Given the description of an element on the screen output the (x, y) to click on. 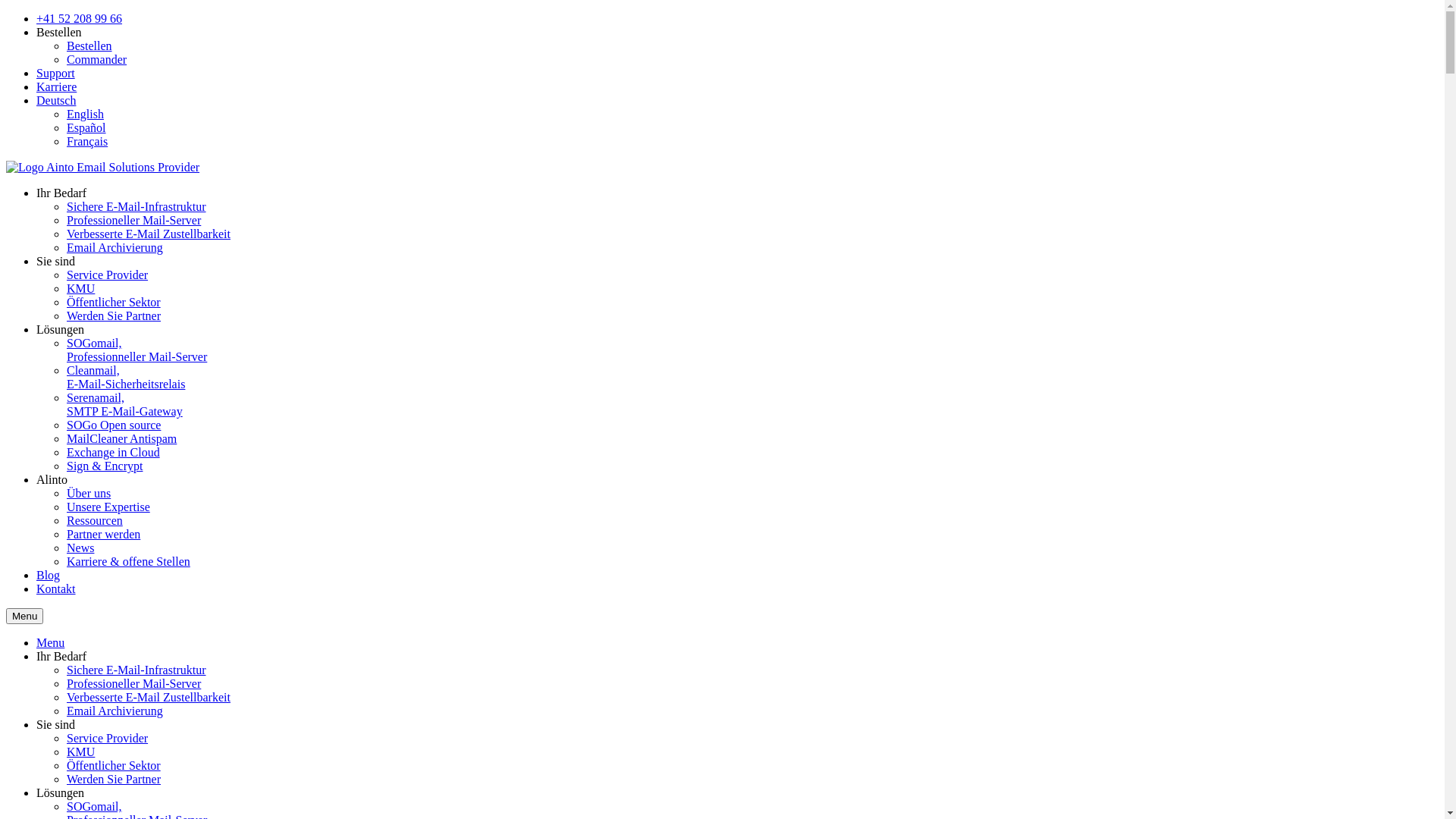
Ressourcen Element type: text (94, 520)
Service Provider Element type: text (106, 737)
Sichere E-Mail-Infrastruktur Element type: text (135, 669)
Sichere E-Mail-Infrastruktur Element type: text (135, 206)
Blog Element type: text (47, 574)
English Element type: text (84, 113)
Deutsch Element type: text (55, 100)
Sie sind Element type: text (55, 260)
Ihr Bedarf Element type: text (61, 655)
Werden Sie Partner Element type: text (113, 315)
Commander Element type: text (96, 59)
Bestellen Element type: text (89, 45)
Sign & Encrypt Element type: text (104, 465)
Support Element type: text (55, 72)
Exchange in Cloud Element type: text (113, 451)
Werden Sie Partner Element type: text (113, 778)
Ihr Bedarf Element type: text (61, 192)
Email Archivierung Element type: text (114, 710)
Karriere & offene Stellen Element type: text (128, 561)
Verbesserte E-Mail Zustellbarkeit Element type: text (148, 696)
Menu Element type: text (50, 642)
Unsere Expertise Element type: text (108, 506)
Partner werden Element type: text (103, 533)
Sie sind Element type: text (55, 724)
Menu Element type: text (24, 616)
Alinto Element type: text (51, 479)
Karriere Element type: text (56, 86)
Serenamail,
SMTP E-Mail-Gateway Element type: text (124, 404)
Bestellen Element type: text (58, 31)
SOGo Open source Element type: text (113, 424)
+41 52 208 99 66 Element type: text (79, 18)
Email Archivierung Element type: text (114, 247)
MailCleaner Antispam Element type: text (121, 438)
KMU Element type: text (80, 751)
Service Provider Element type: text (106, 274)
Verbesserte E-Mail Zustellbarkeit Element type: text (148, 233)
News Element type: text (80, 547)
KMU Element type: text (80, 288)
SOGomail,
Professionneller Mail-Server Element type: text (136, 349)
Professioneller Mail-Server Element type: text (133, 219)
Cleanmail,
E-Mail-Sicherheitsrelais Element type: text (125, 377)
Professioneller Mail-Server Element type: text (133, 683)
Kontakt Element type: text (55, 588)
